Given the description of an element on the screen output the (x, y) to click on. 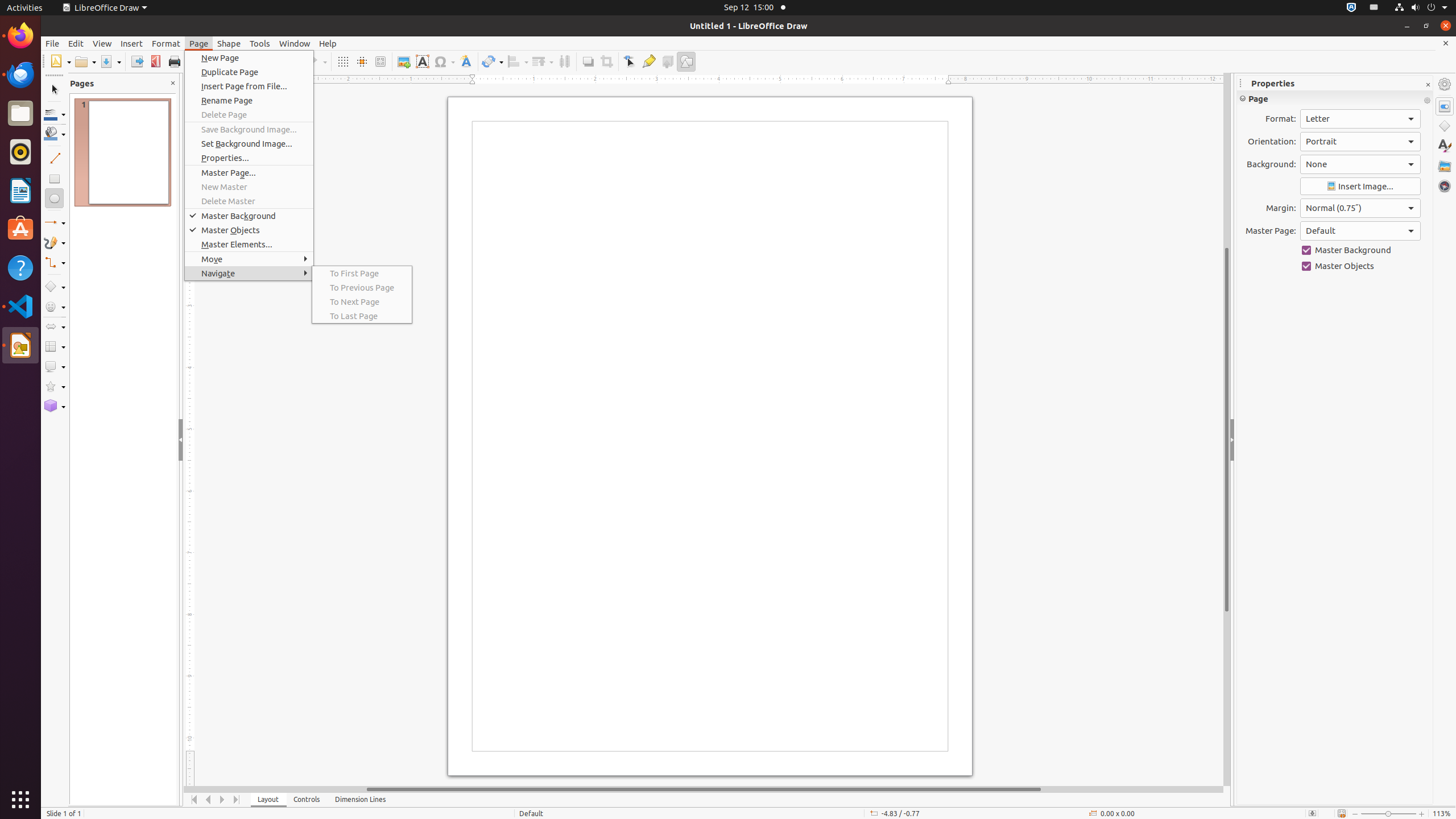
Glue Points Element type: push-button (648, 61)
